Given the description of an element on the screen output the (x, y) to click on. 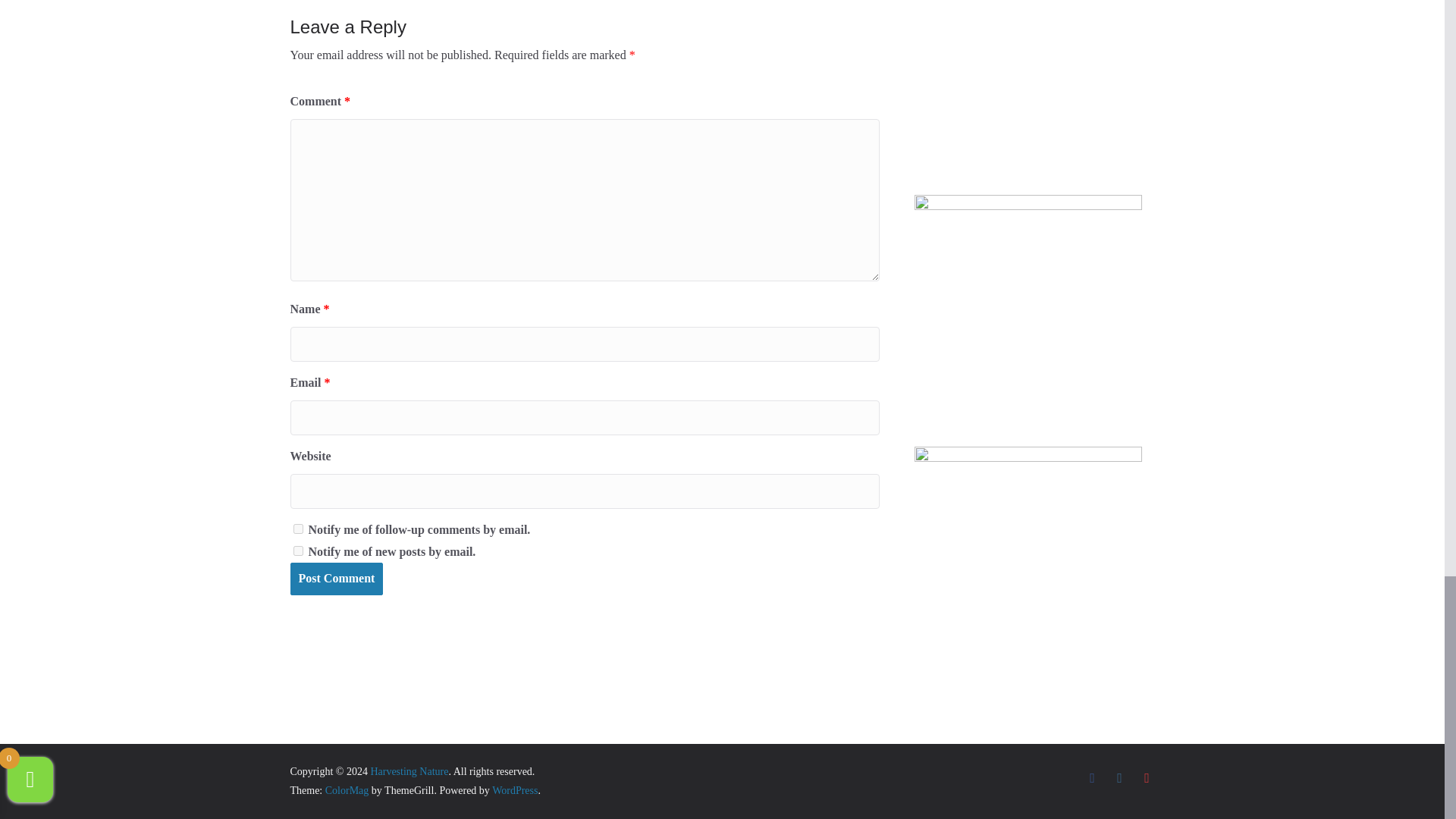
subscribe (297, 551)
subscribe (297, 528)
Post Comment (335, 578)
